Given the description of an element on the screen output the (x, y) to click on. 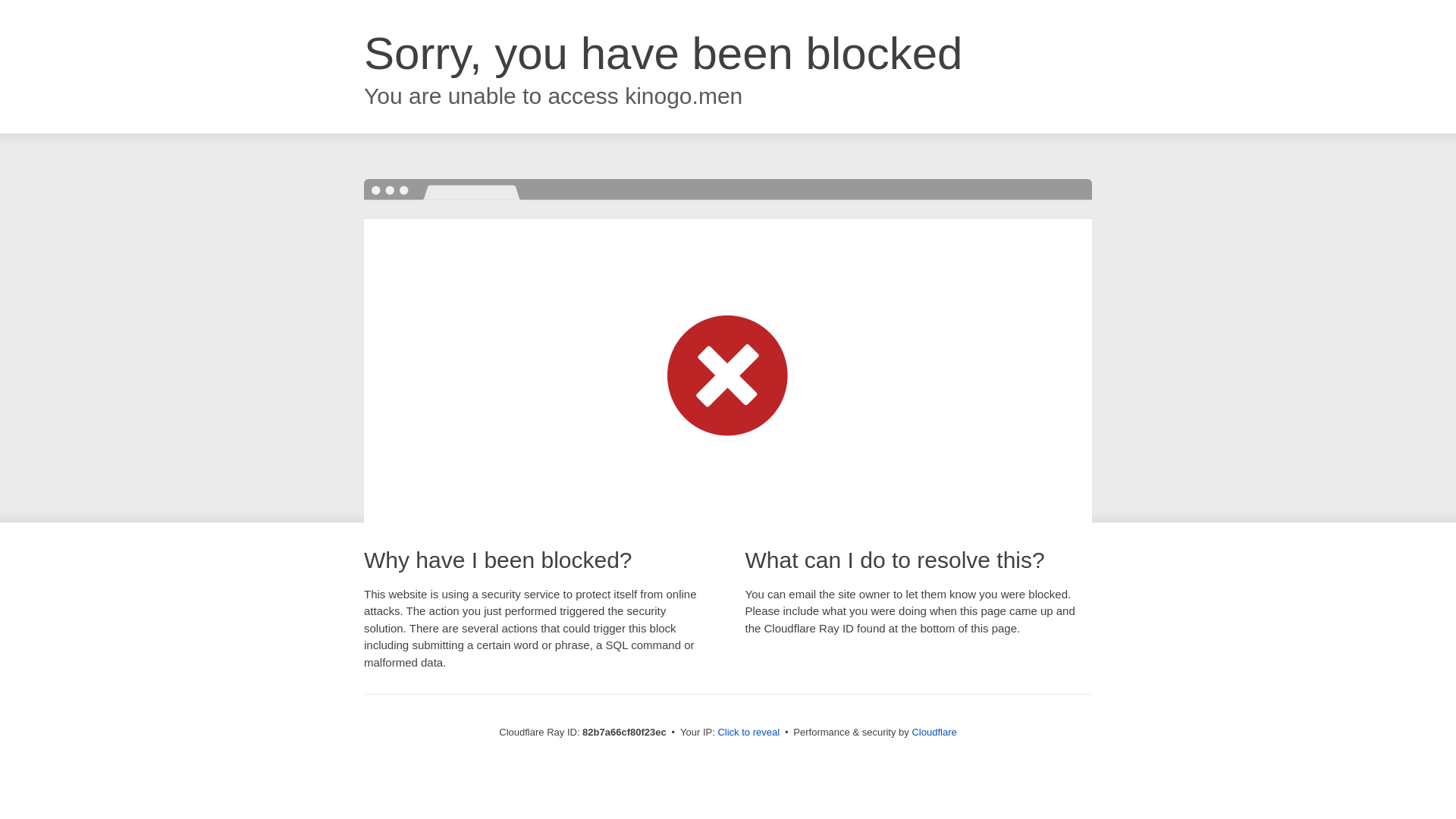
Cloudflare Element type: text (933, 731)
Click to reveal Element type: text (748, 732)
